Given the description of an element on the screen output the (x, y) to click on. 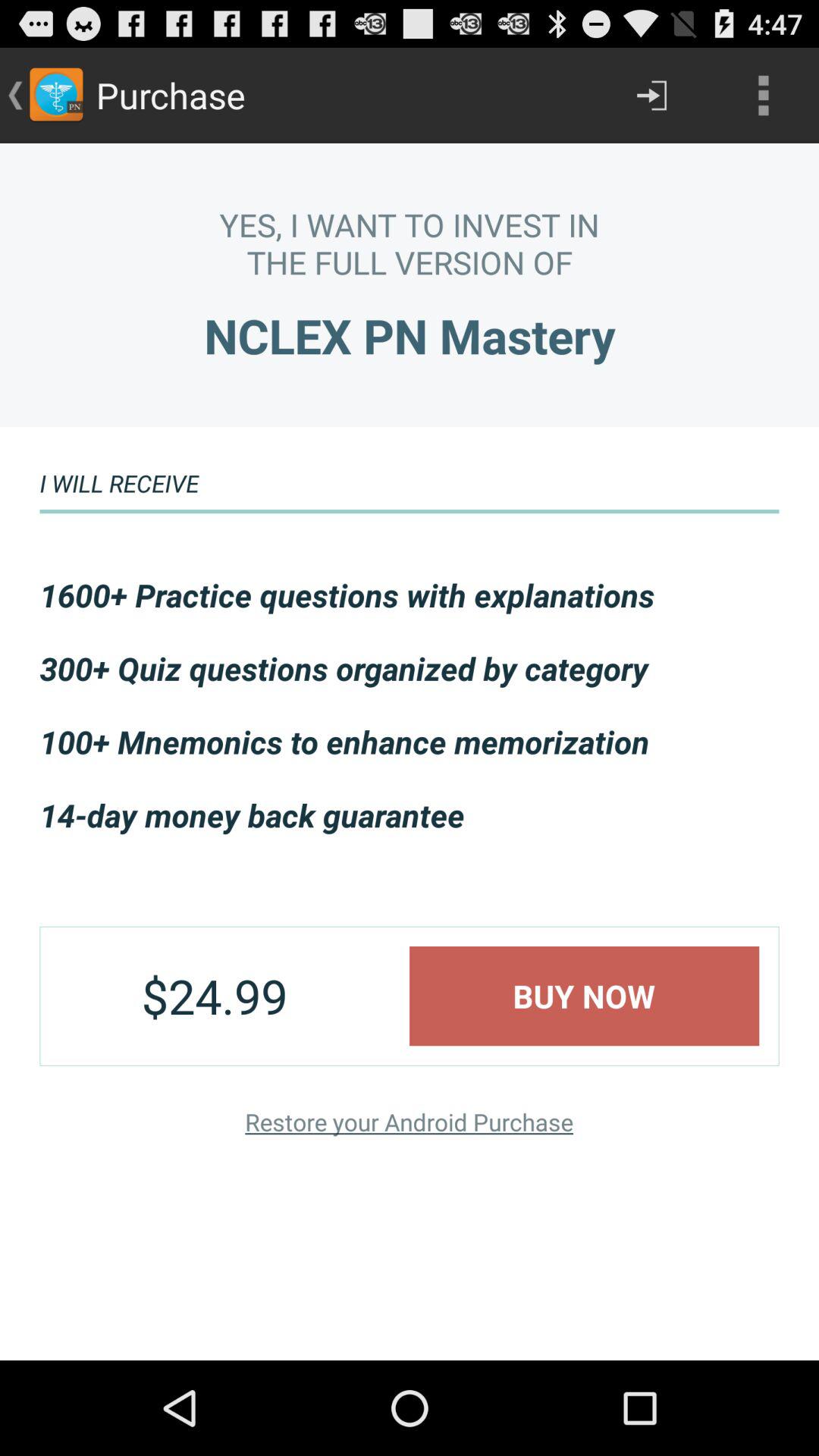
choose icon at the bottom (409, 1121)
